Given the description of an element on the screen output the (x, y) to click on. 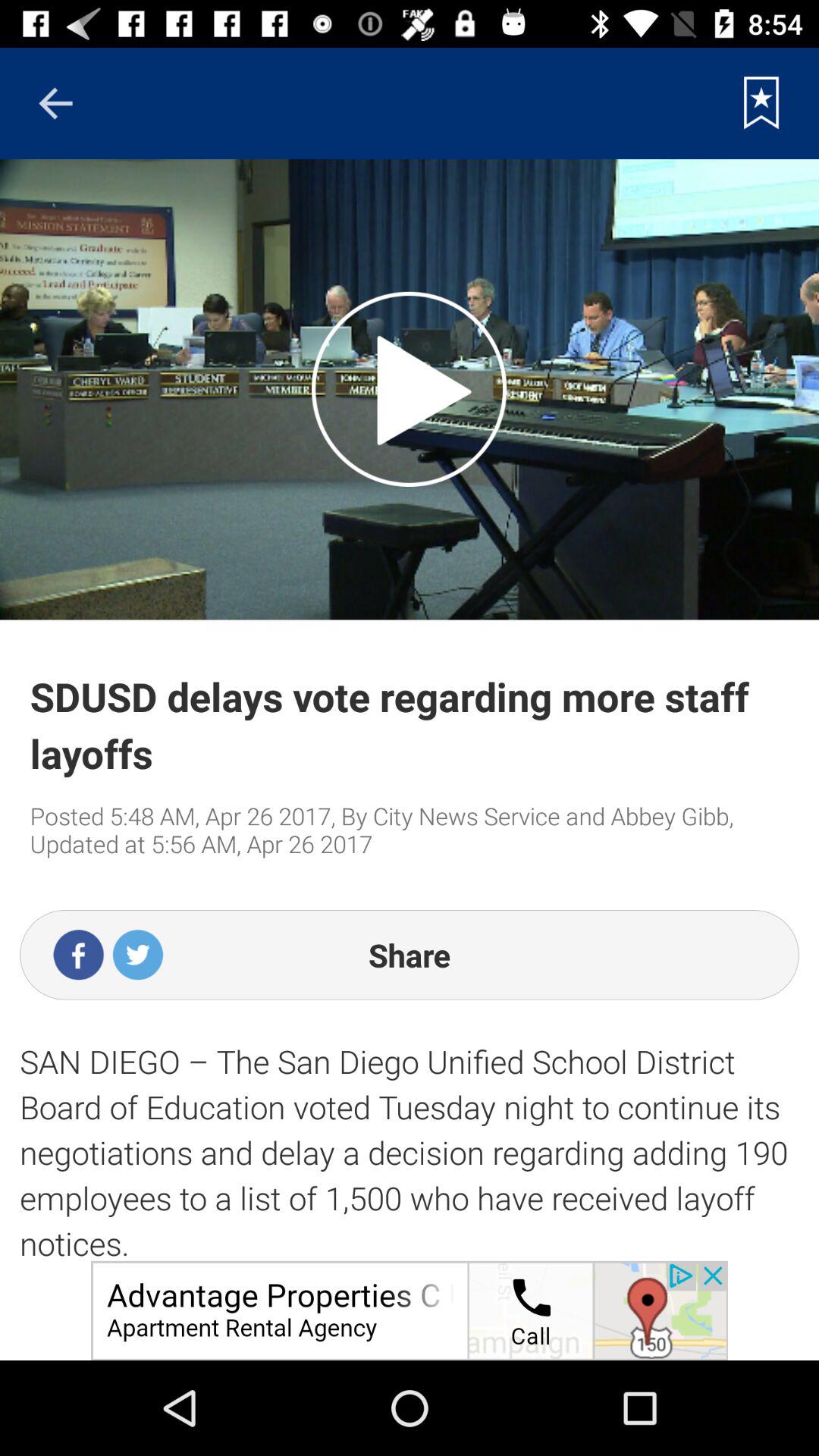
go to arrow (55, 103)
